Given the description of an element on the screen output the (x, y) to click on. 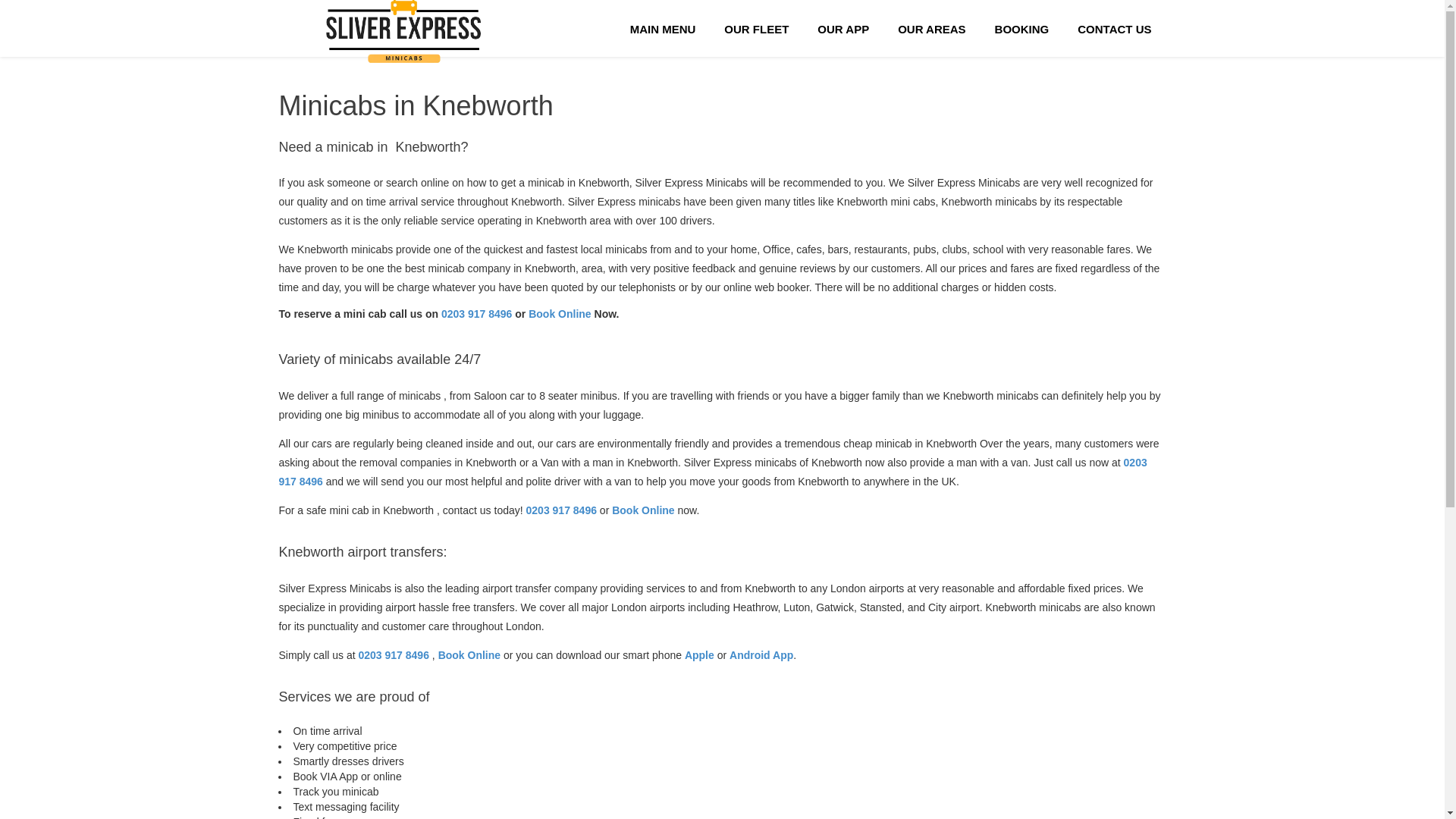
Book Online (559, 313)
Apple (699, 654)
Book Online (642, 510)
CONTACT US (1114, 28)
OUR APP (843, 28)
0203 917 8496 (712, 471)
0203 917 8496 (395, 654)
OUR AREAS (931, 28)
OUR FLEET (756, 28)
0203 917 8496 (562, 510)
MAIN MENU (662, 28)
BOOKING (1021, 28)
Android App (761, 654)
0203 917 8496 (478, 313)
Book Online (469, 654)
